Given the description of an element on the screen output the (x, y) to click on. 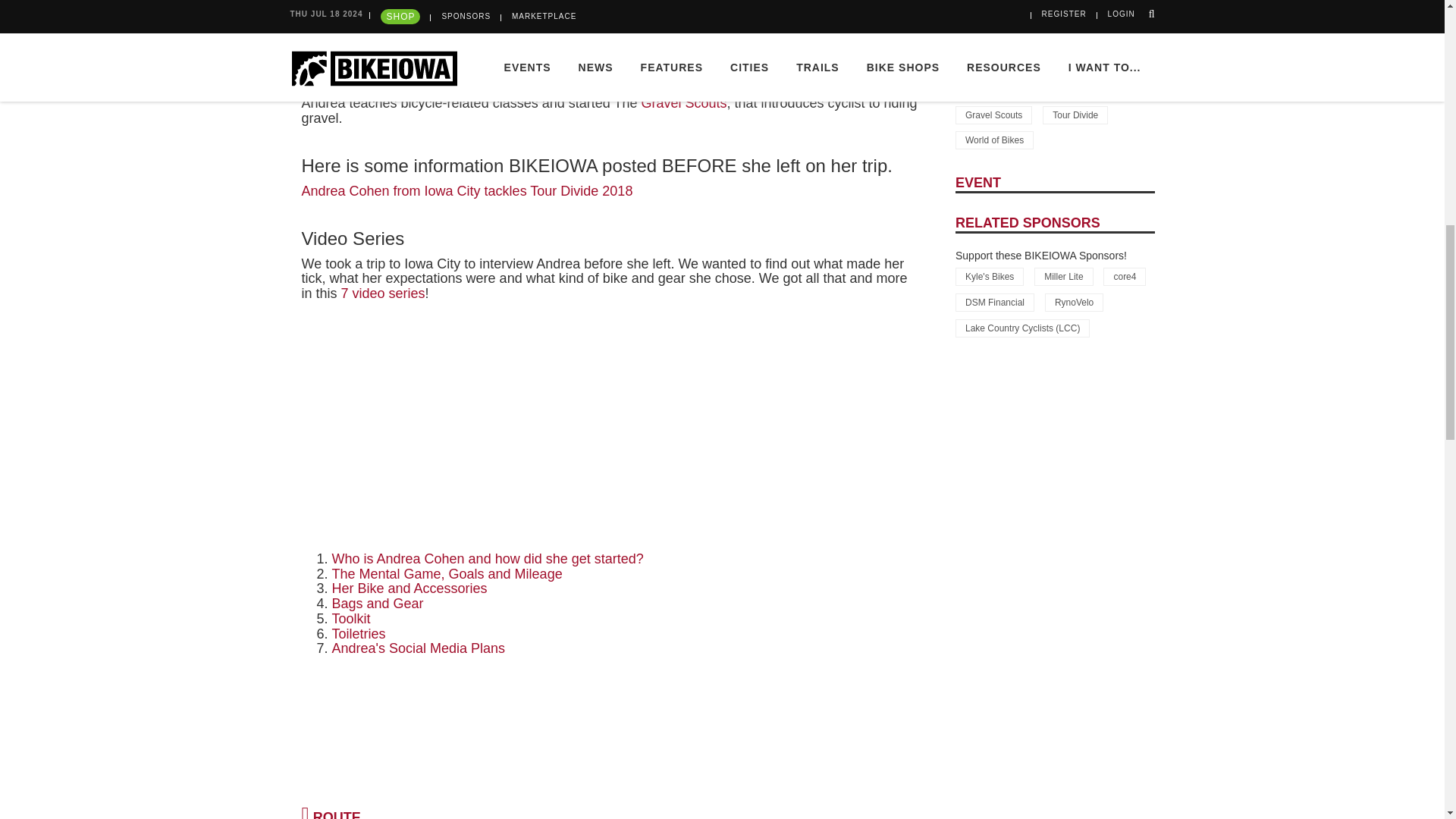
View details about Miller Lite (1063, 276)
View details about DSM Financial (994, 302)
View details about core4 (1124, 276)
View details about RynoVelo (1074, 302)
View details about Kyle's Bikes (989, 276)
